Given the description of an element on the screen output the (x, y) to click on. 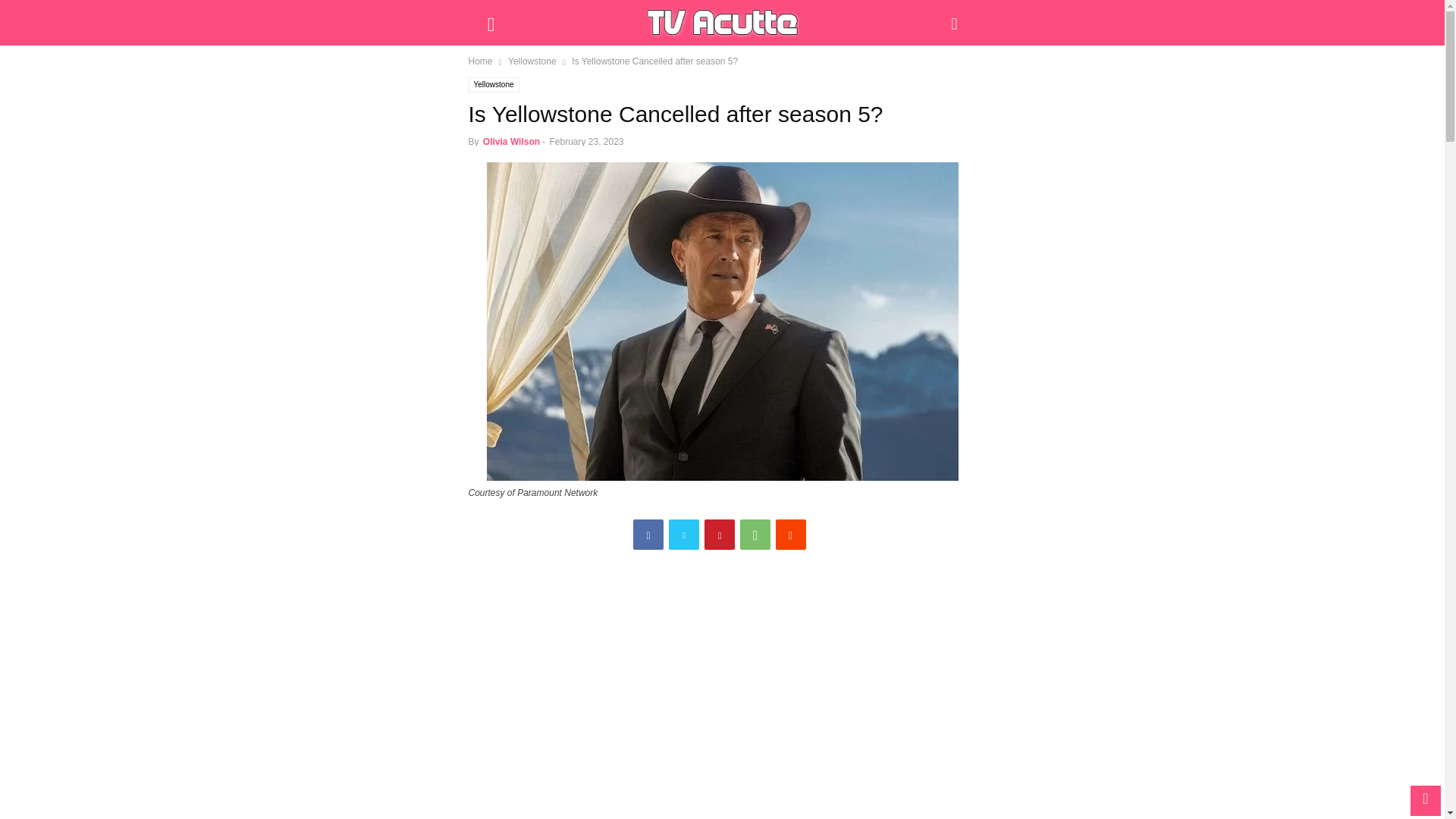
TV Acutte (722, 22)
Pinterest (719, 534)
ReddIt (791, 534)
WhatsApp (754, 534)
Yellowstone (493, 84)
Facebook (648, 534)
Olivia Wilson (511, 141)
TV Acutte (722, 22)
View all posts in Yellowstone (532, 61)
Yellowstone (532, 61)
